Given the description of an element on the screen output the (x, y) to click on. 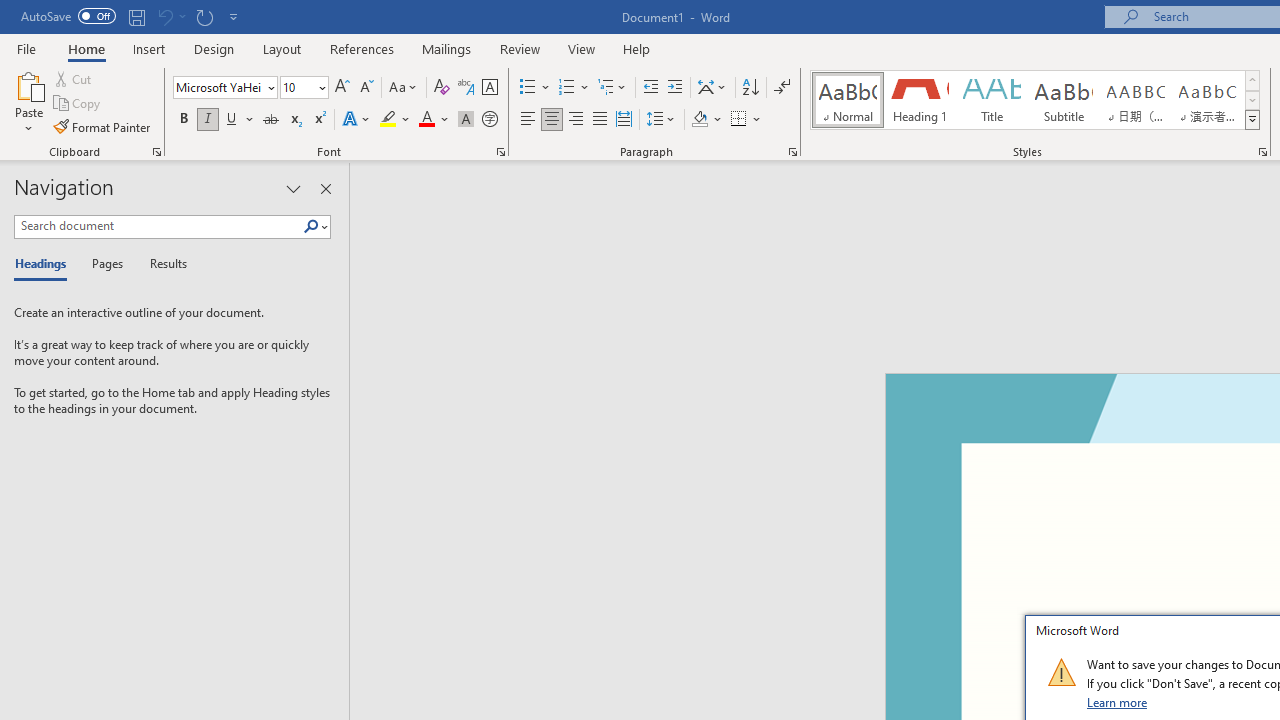
Strikethrough (270, 119)
Enclose Characters... (489, 119)
Subtitle (1063, 100)
Can't Undo (164, 15)
Row up (1252, 79)
Results (161, 264)
Pages (105, 264)
Cut (73, 78)
